Given the description of an element on the screen output the (x, y) to click on. 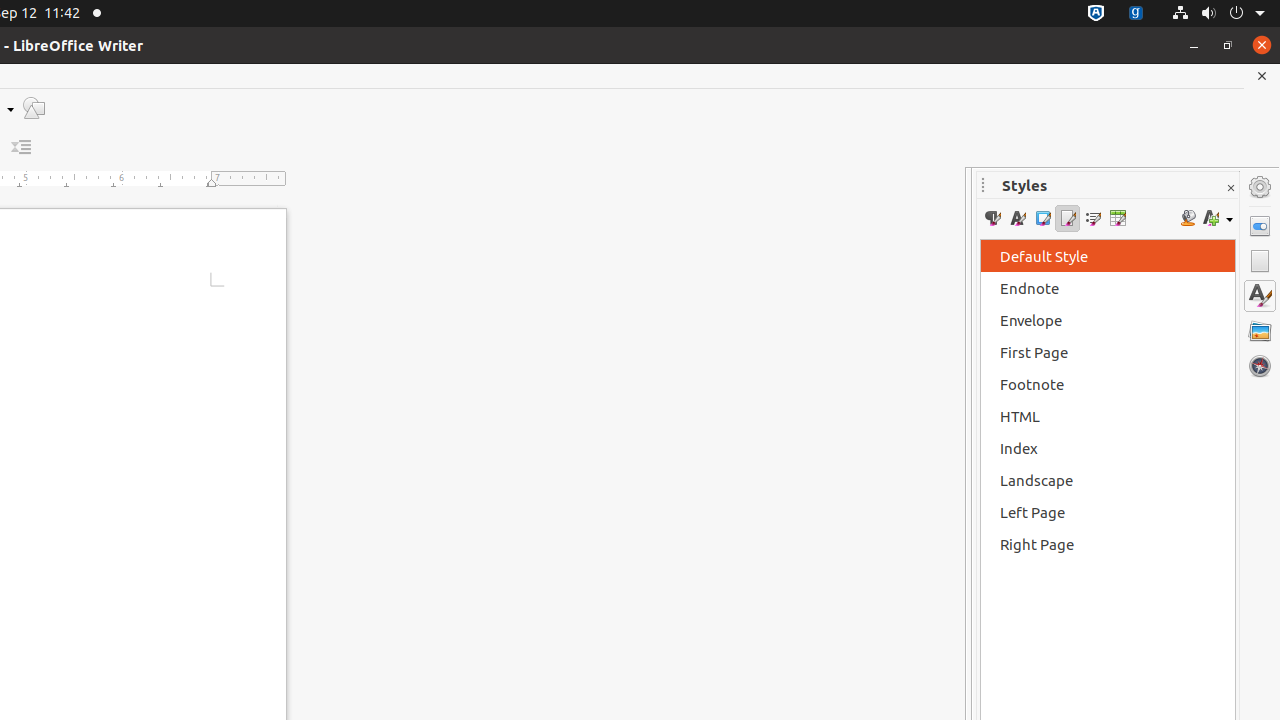
Draw Functions Element type: push-button (33, 108)
Paragraph Styles Element type: push-button (992, 218)
Close Sidebar Deck Element type: push-button (1230, 188)
List Styles Element type: push-button (1092, 218)
Page Styles Element type: push-button (1067, 218)
